Given the description of an element on the screen output the (x, y) to click on. 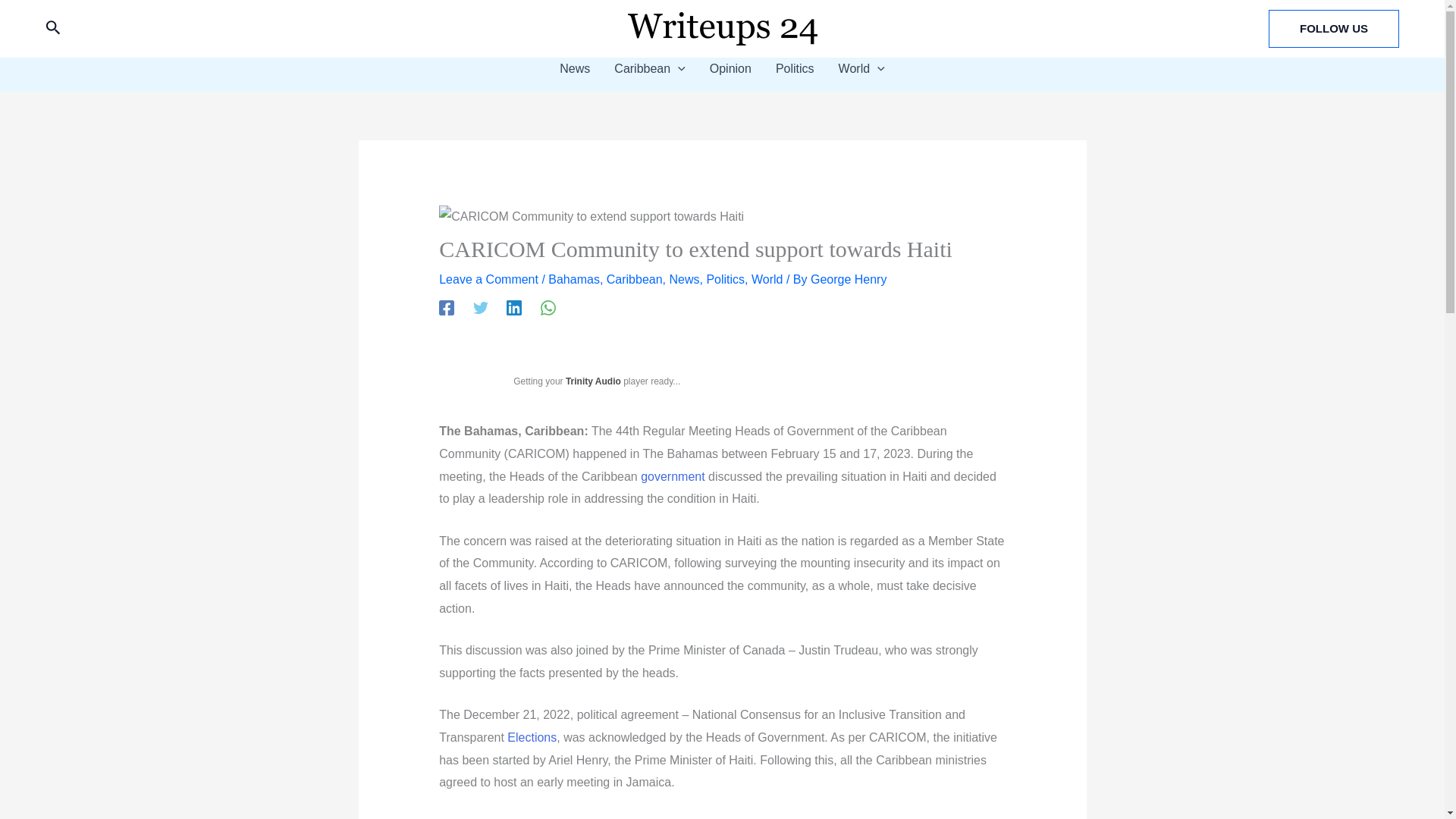
World (861, 68)
Bahamas (573, 278)
World (767, 278)
George Henry (848, 278)
Leave a Comment (488, 278)
Opinion (729, 68)
News (574, 68)
FOLLOW US (1333, 28)
News (683, 278)
Search (53, 29)
Politics (794, 68)
Politics (725, 278)
Caribbean (649, 68)
Caribbean (634, 278)
View all posts by George Henry (848, 278)
